Given the description of an element on the screen output the (x, y) to click on. 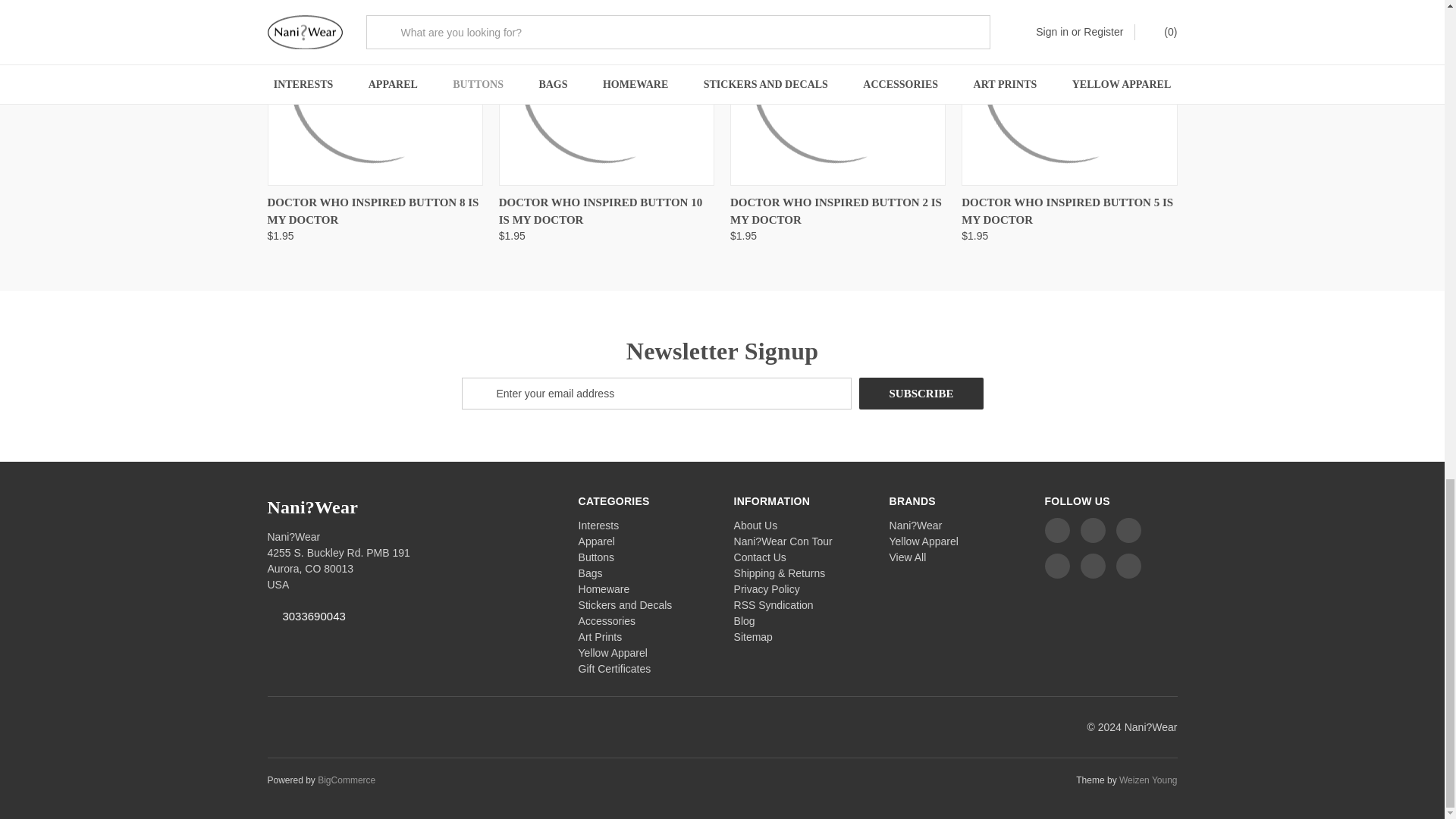
Doctor Who Button: 5 is My Doctor (1068, 91)
Doctor Who Button: 10 is My Doctor (606, 91)
Subscribe (920, 393)
Doctor Who Button: 2 is My Doctor (837, 91)
Doctor Who Button: 8 is My Doctor (374, 91)
